Given the description of an element on the screen output the (x, y) to click on. 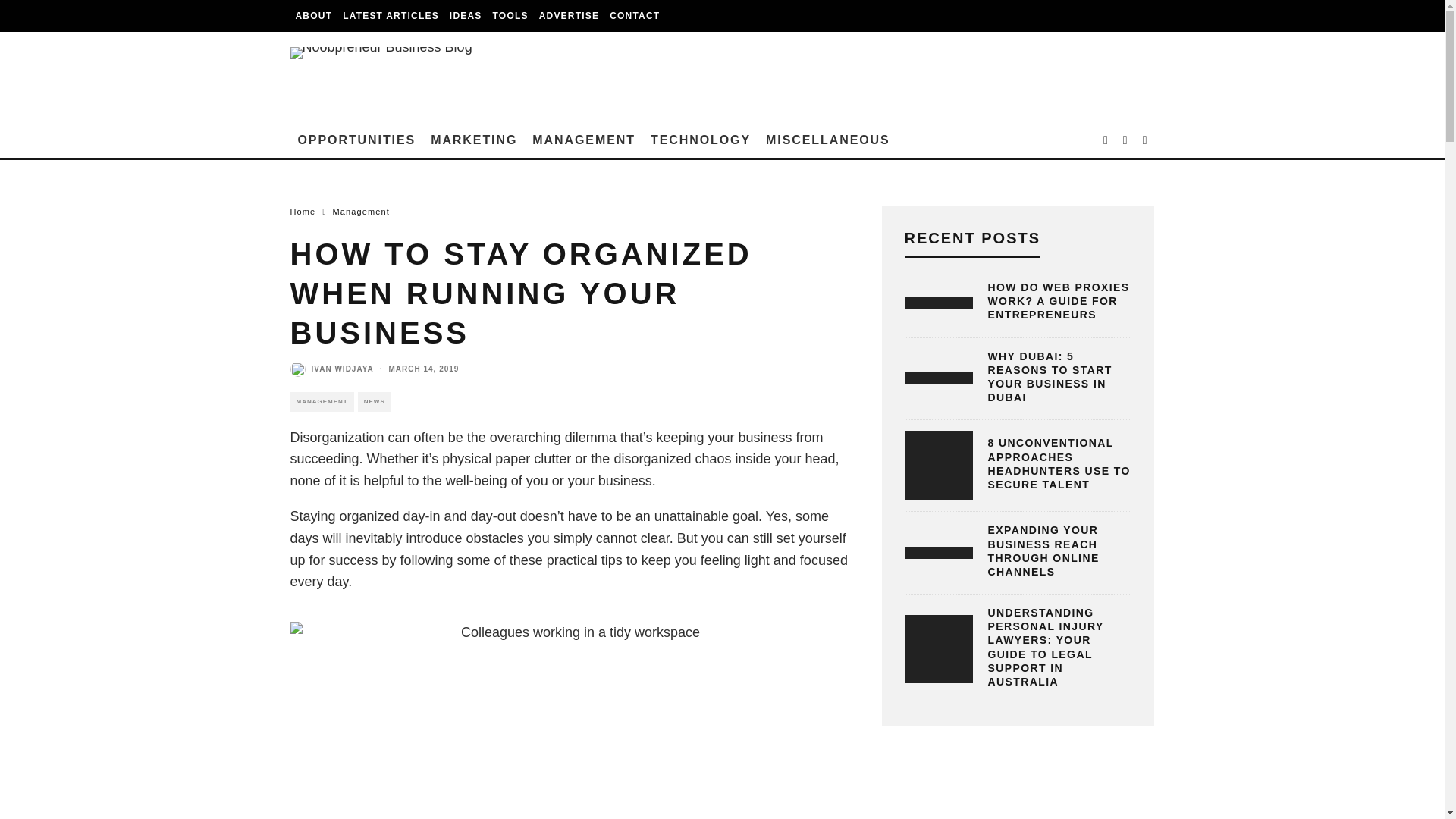
Business Management (583, 140)
IDEAS (465, 15)
LATEST ARTICLES (390, 15)
Other Business News and Tips (828, 140)
MANAGEMENT (583, 140)
OPPORTUNITIES (356, 140)
MARKETING (473, 140)
Small Business Ideas (465, 15)
Information Technology (700, 140)
Small Business Apps (510, 15)
TOOLS (510, 15)
ADVERTISE (569, 15)
Business Marketing (473, 140)
ABOUT (313, 15)
Business Opportunities (356, 140)
